Given the description of an element on the screen output the (x, y) to click on. 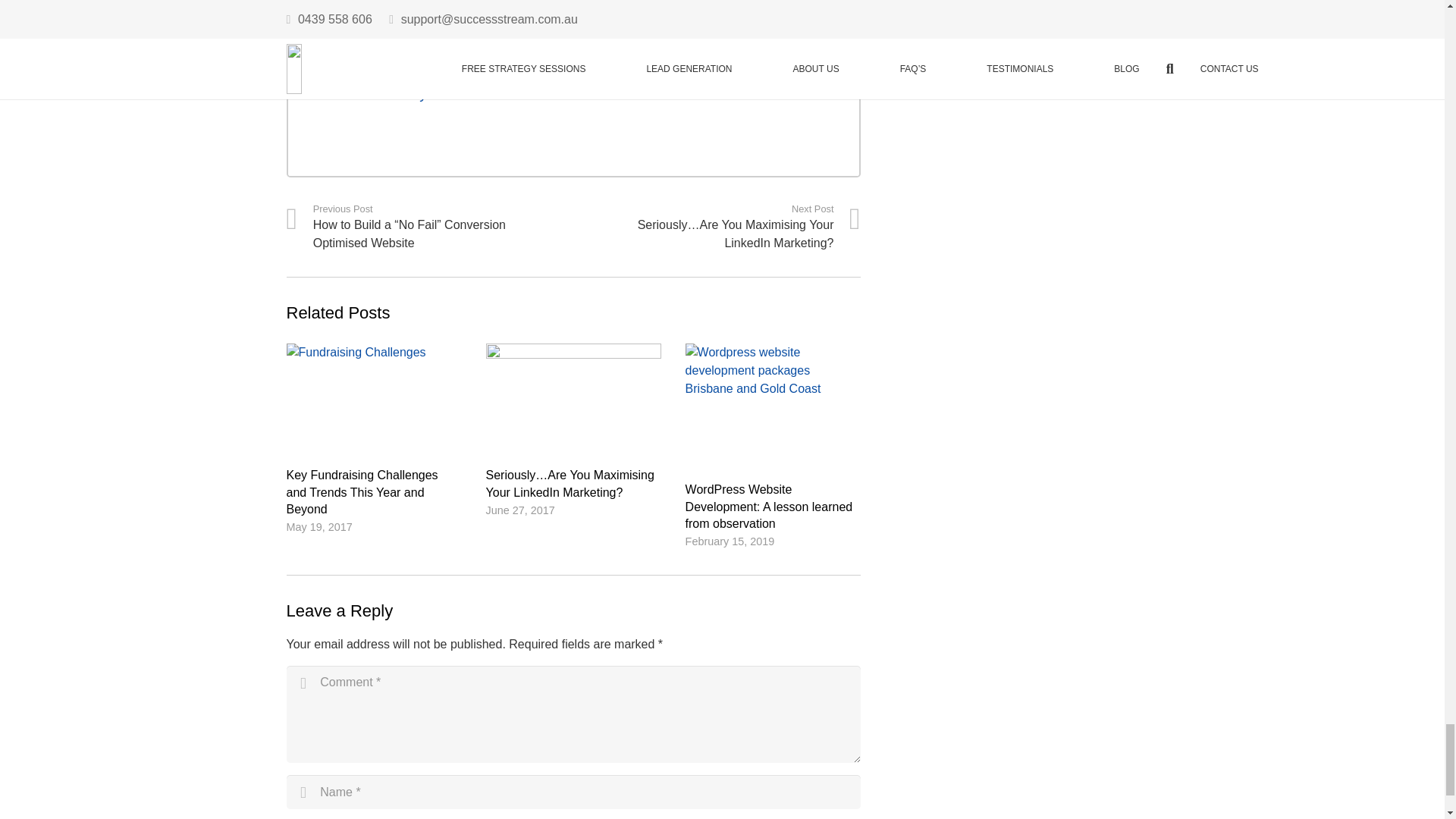
Share this (392, 18)
Tweet this (345, 18)
Share this (433, 18)
Key Fundraising Challenges and Trends This Year and Beyond (362, 491)
Nyrie (426, 93)
Share this (303, 18)
